Given the description of an element on the screen output the (x, y) to click on. 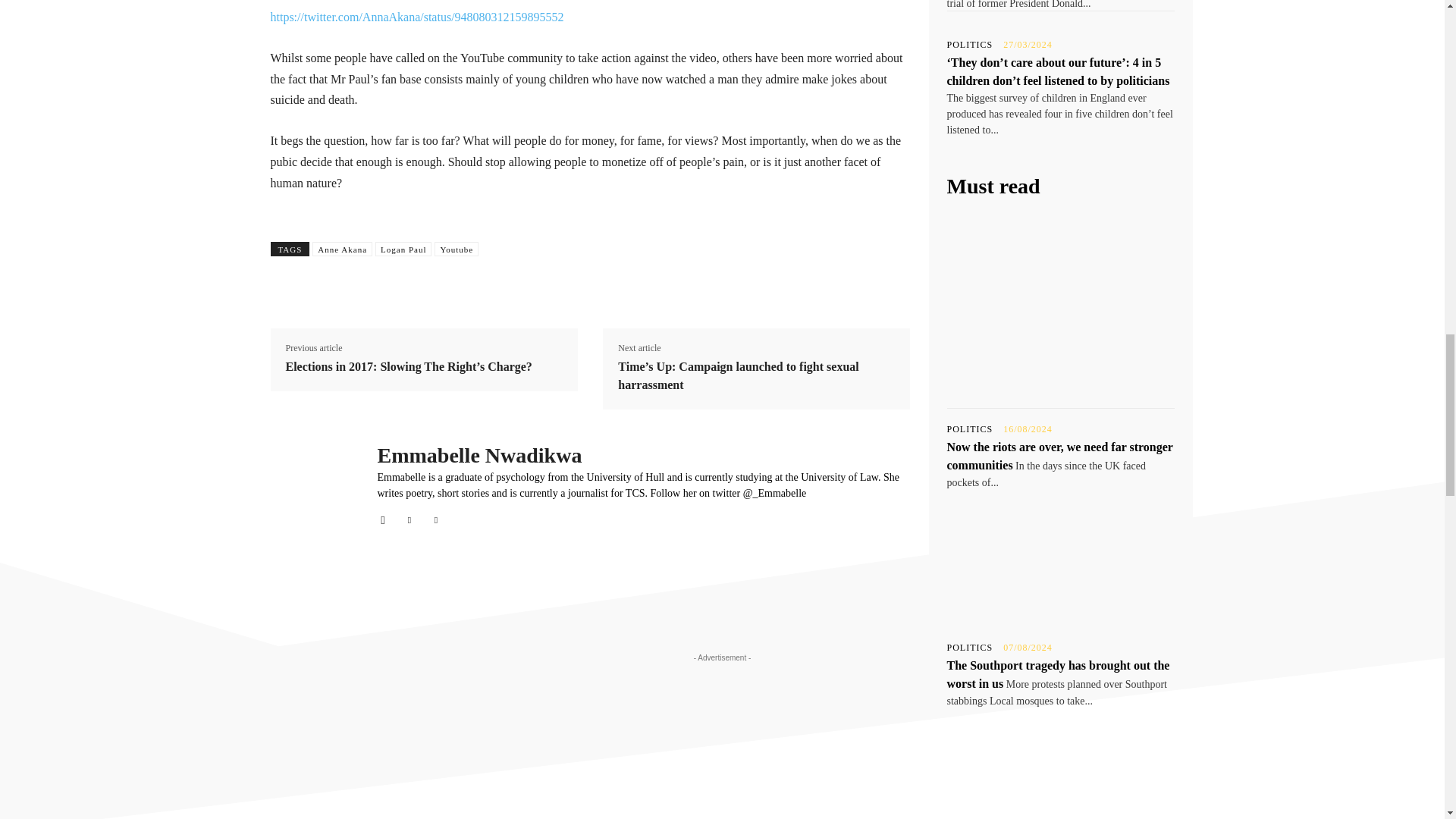
Logan Paul (402, 248)
Youtube (456, 248)
Anne Akana (342, 248)
